Given the description of an element on the screen output the (x, y) to click on. 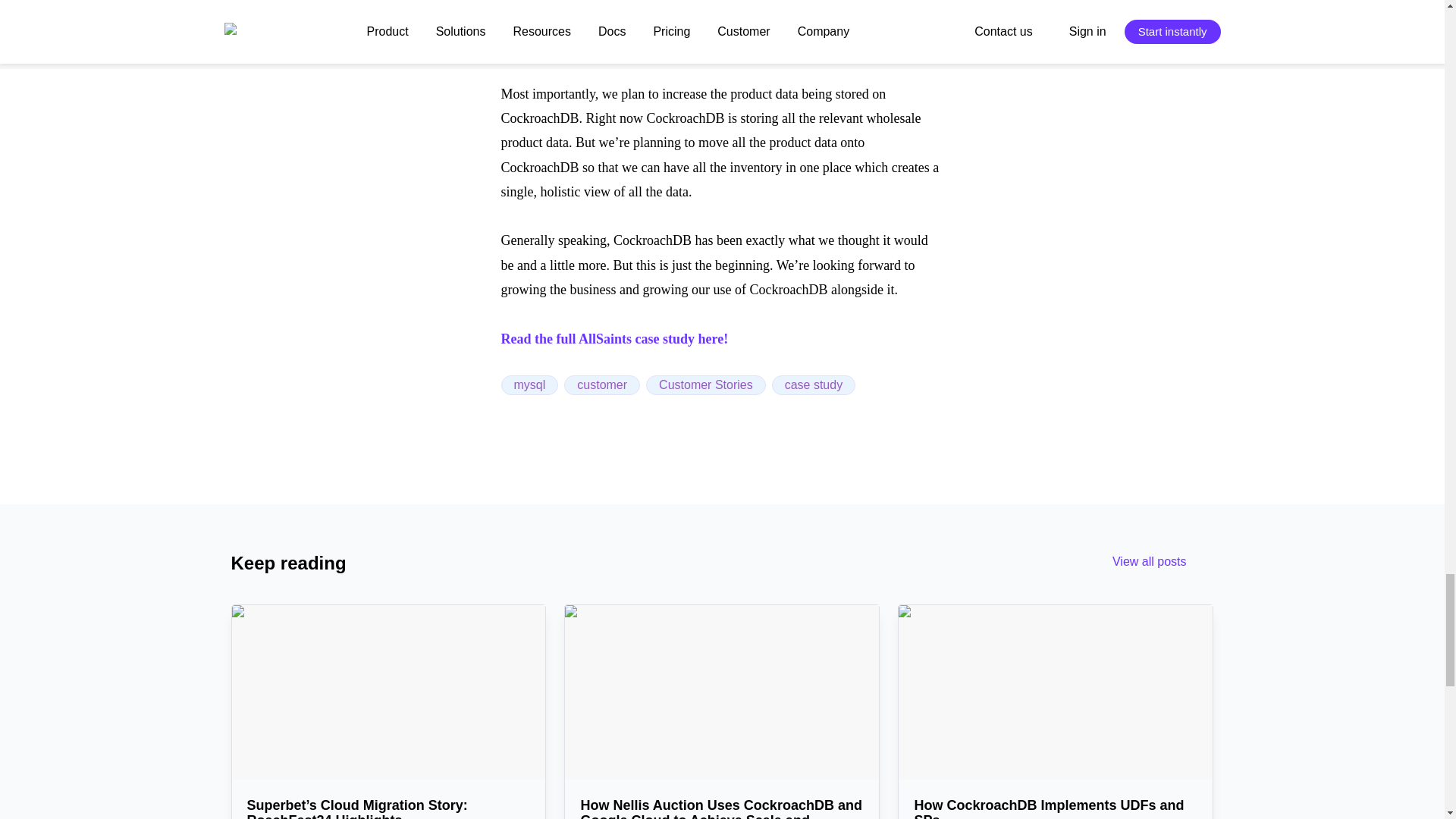
RabbitMQ (529, 20)
View all posts (1163, 563)
Read the full AllSaints case study here! (614, 338)
